Given the description of an element on the screen output the (x, y) to click on. 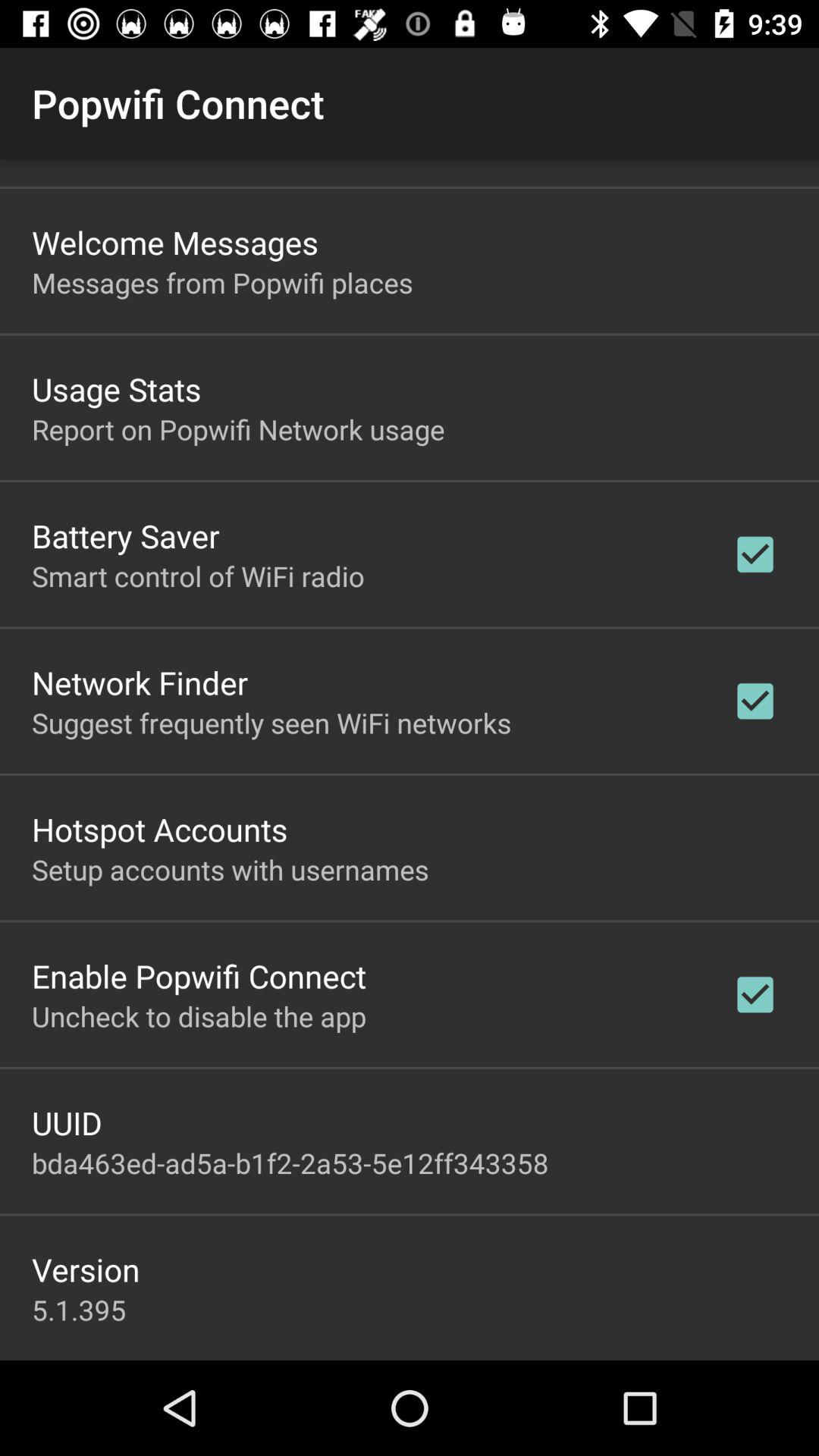
launch the item above network finder item (197, 575)
